Given the description of an element on the screen output the (x, y) to click on. 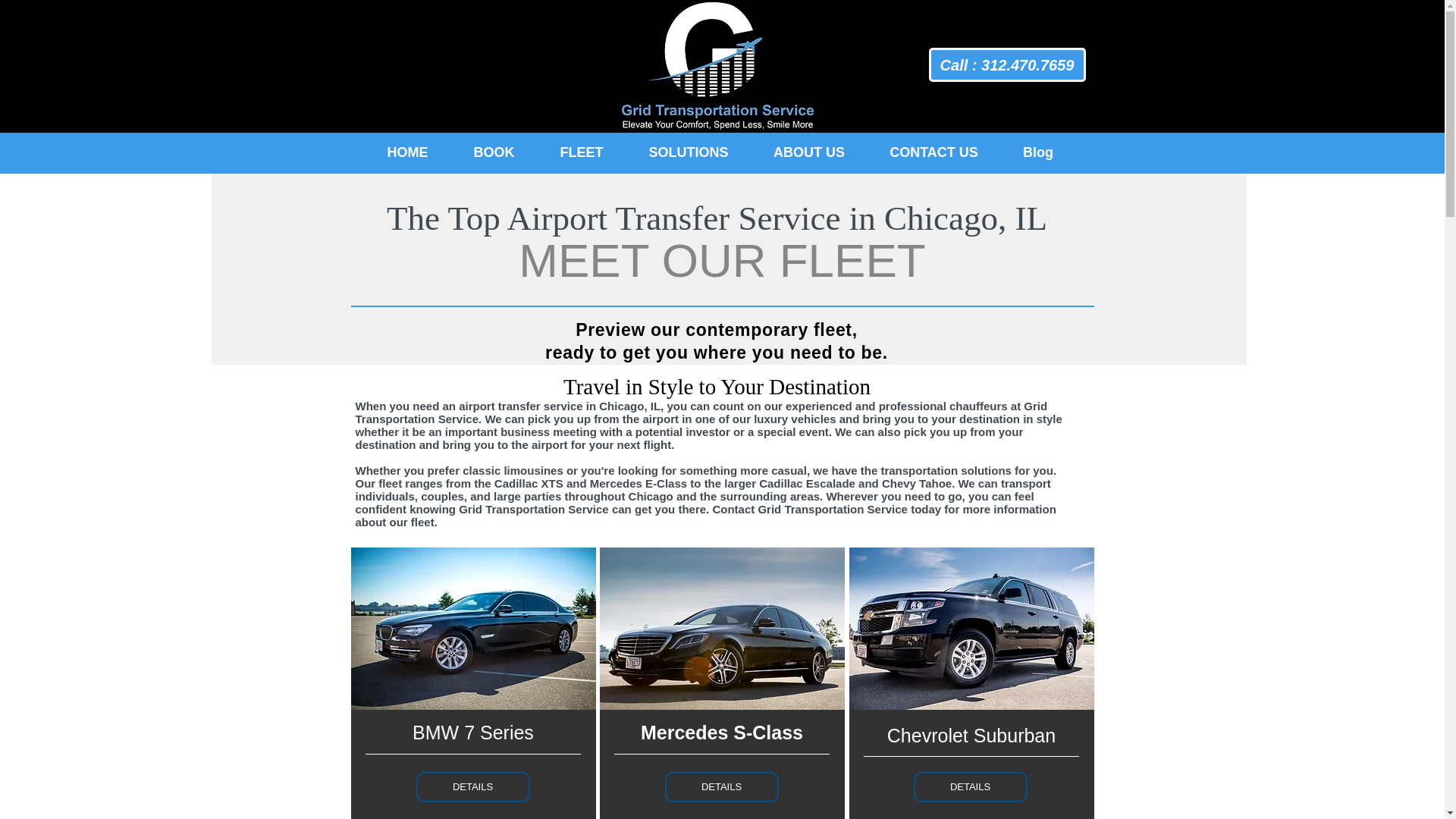
HOME (406, 152)
SOLUTIONS (688, 152)
Blog (1038, 152)
FLEET (581, 152)
ABOUT US (808, 152)
DETAILS (471, 787)
BOOK (493, 152)
DETAILS (969, 787)
DETAILS (720, 787)
CONTACT US (934, 152)
